Given the description of an element on the screen output the (x, y) to click on. 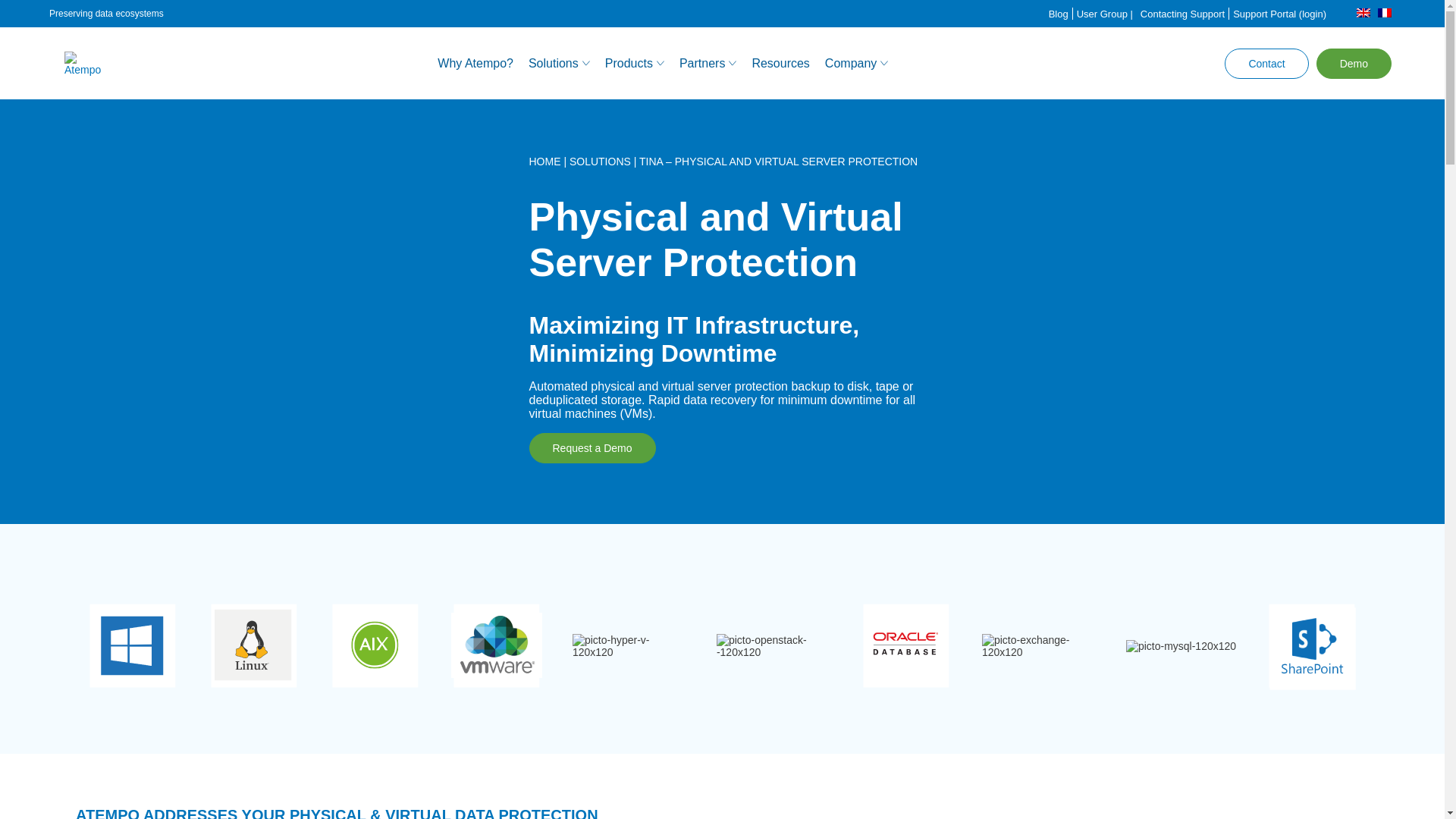
Blog (1058, 13)
Contacting Support (1182, 13)
Products (633, 63)
Why Atempo? (475, 63)
FR (1384, 13)
EN (1363, 13)
Solutions (558, 63)
